Given the description of an element on the screen output the (x, y) to click on. 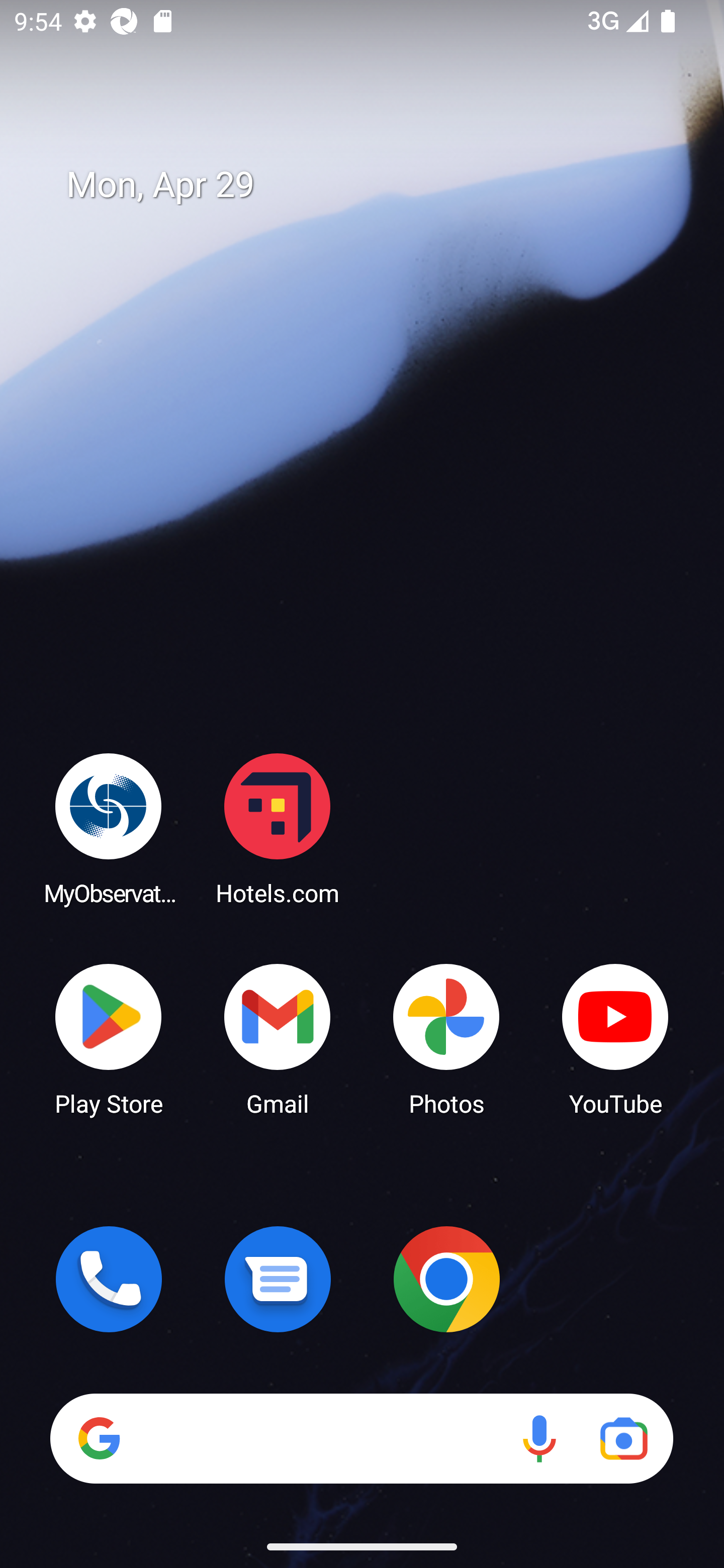
Mon, Apr 29 (375, 184)
MyObservatory (108, 828)
Hotels.com (277, 828)
Play Store (108, 1038)
Gmail (277, 1038)
Photos (445, 1038)
YouTube (615, 1038)
Phone (108, 1279)
Messages (277, 1279)
Chrome (446, 1279)
Search Voice search Google Lens (361, 1438)
Voice search (539, 1438)
Google Lens (623, 1438)
